Given the description of an element on the screen output the (x, y) to click on. 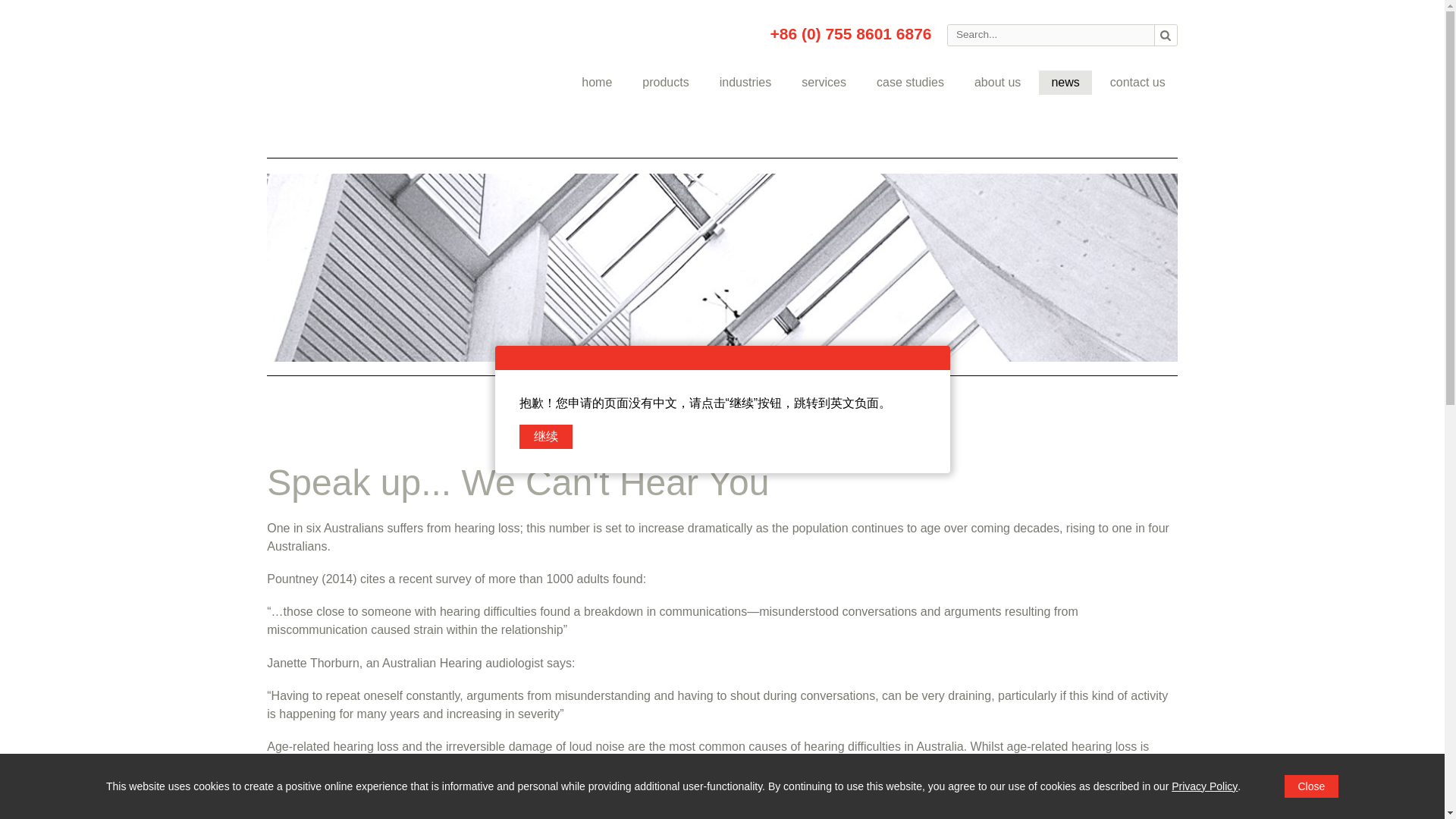
news (1064, 82)
contact us (1137, 82)
Go (1165, 35)
Home (347, 78)
about us (997, 82)
industries (745, 82)
services (824, 82)
home (596, 82)
case studies (910, 82)
products (665, 82)
